Given the description of an element on the screen output the (x, y) to click on. 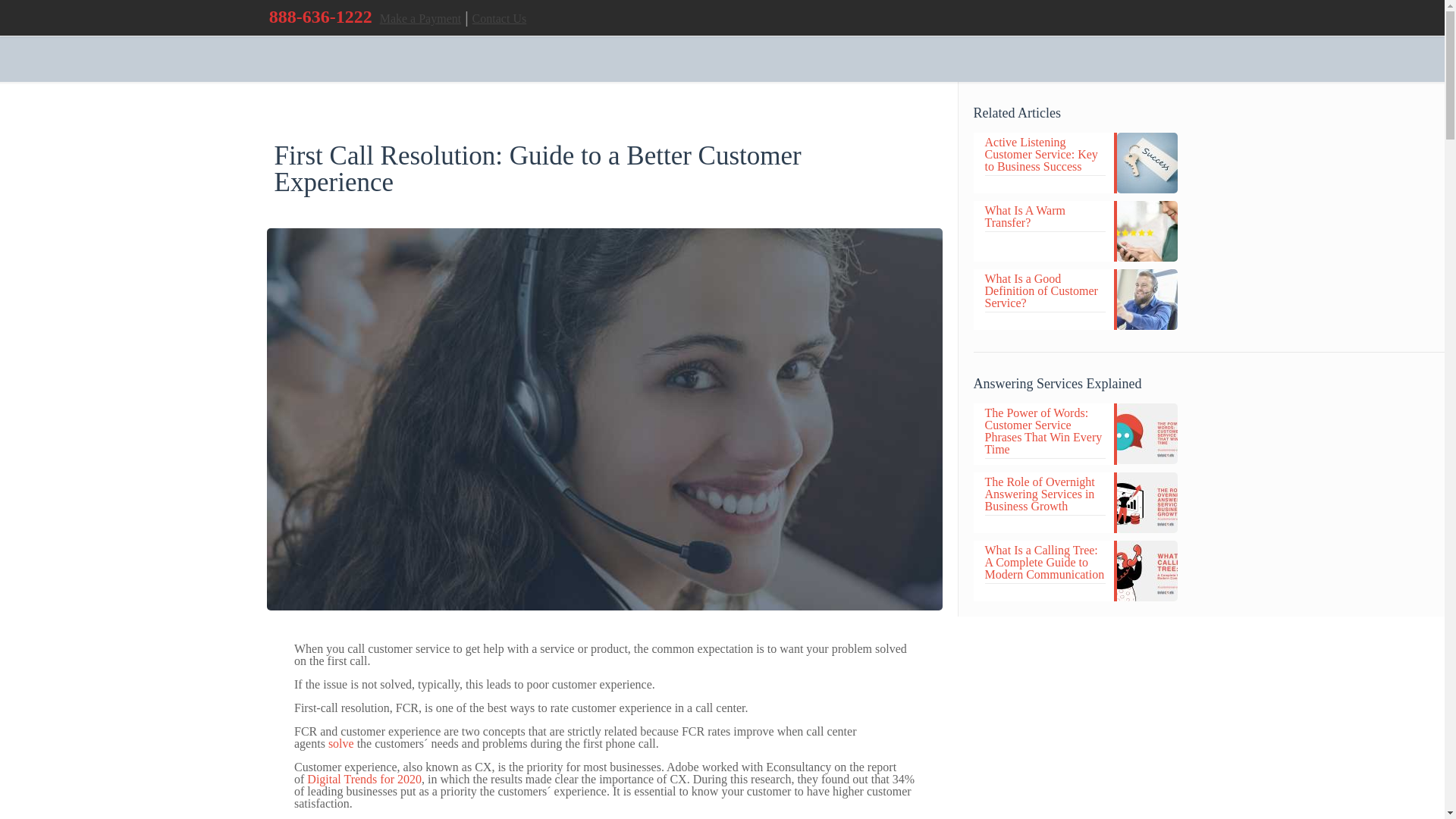
solve (341, 743)
888-636-1222 (320, 16)
Digital Trends for 2020 (364, 779)
Make a Payment (420, 18)
Contact Us (499, 18)
